Given the description of an element on the screen output the (x, y) to click on. 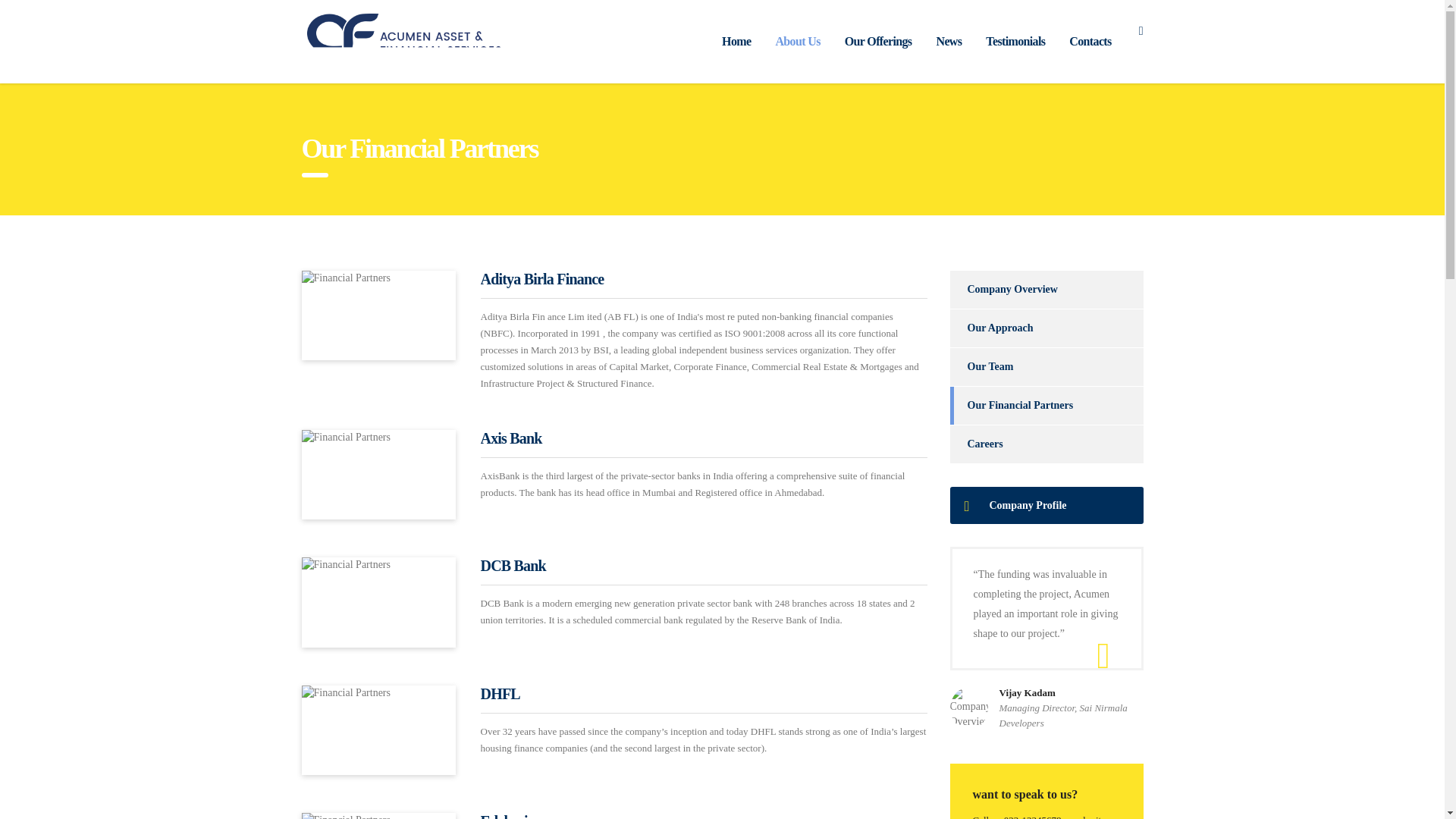
Contacts (1089, 41)
About Us (796, 41)
DCB Bank (513, 565)
Aditya Birla Finance (542, 279)
Axis Bank (510, 437)
Edelweiss (509, 816)
News (948, 41)
Home (736, 41)
DHFL (499, 693)
Our Offerings (878, 41)
